Given the description of an element on the screen output the (x, y) to click on. 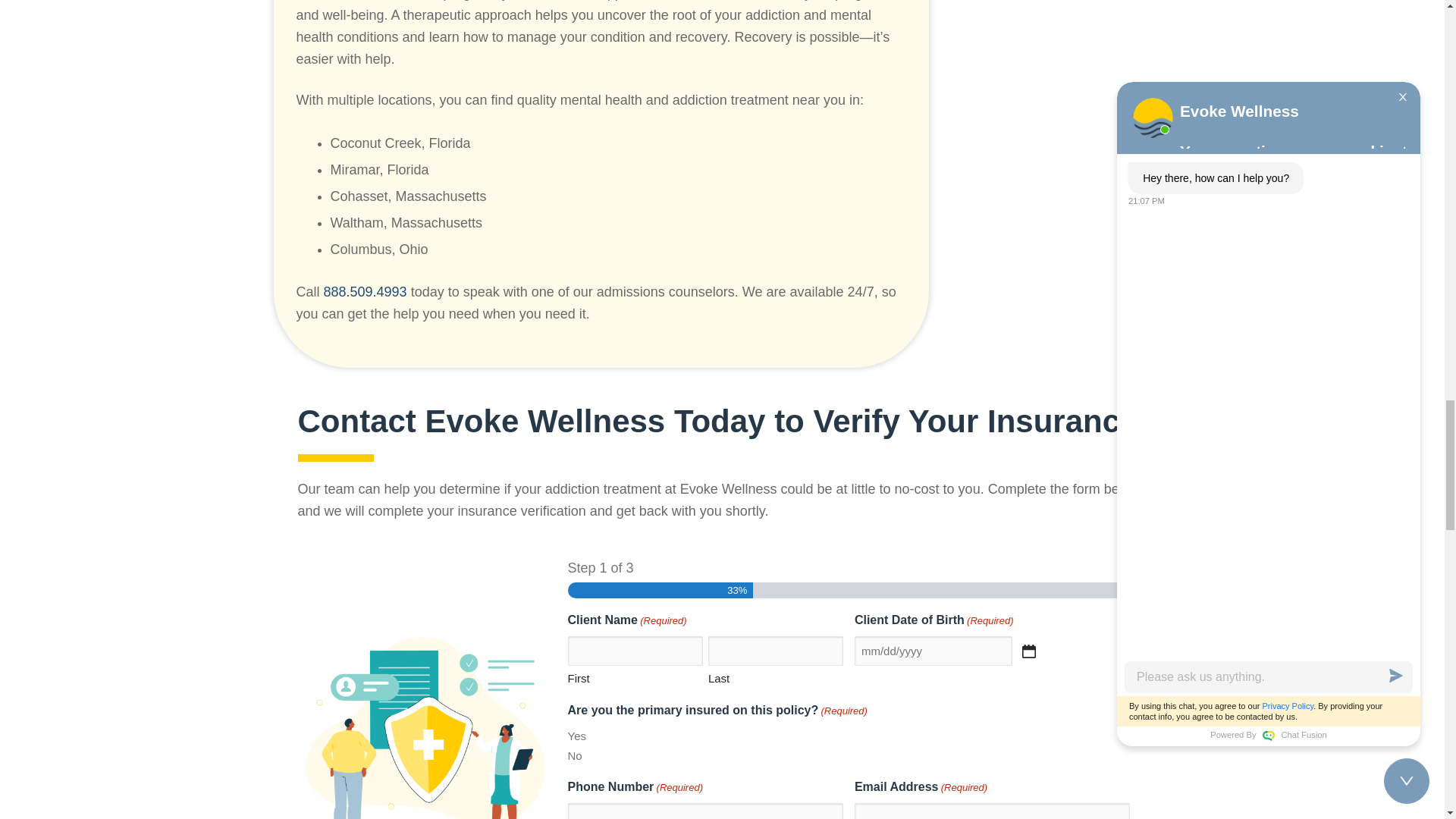
Select date (1028, 651)
